Given the description of an element on the screen output the (x, y) to click on. 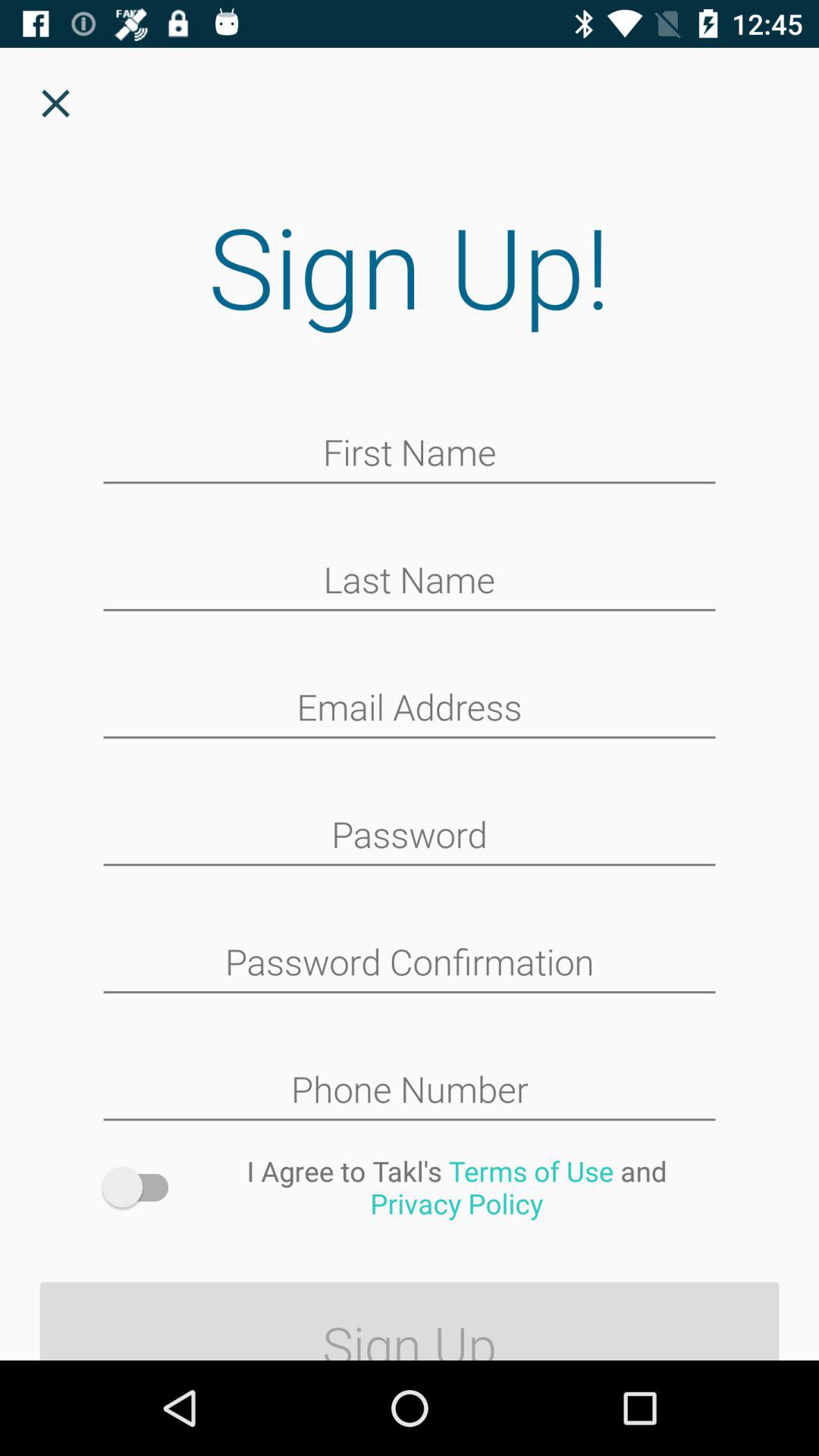
enter your last name (409, 581)
